Given the description of an element on the screen output the (x, y) to click on. 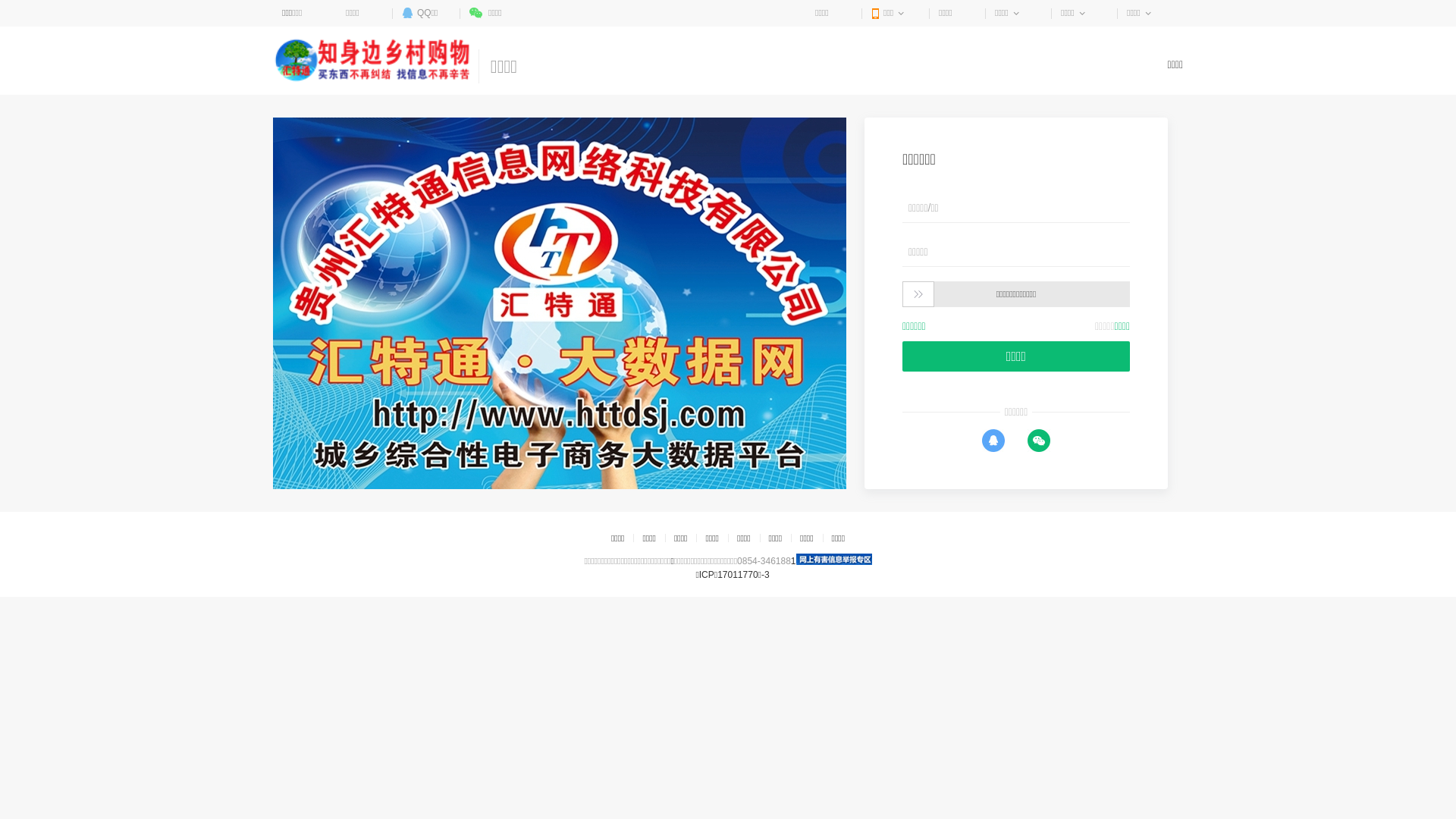
1 Element type: text (793, 560)
db.png Element type: hover (834, 558)
